Given the description of an element on the screen output the (x, y) to click on. 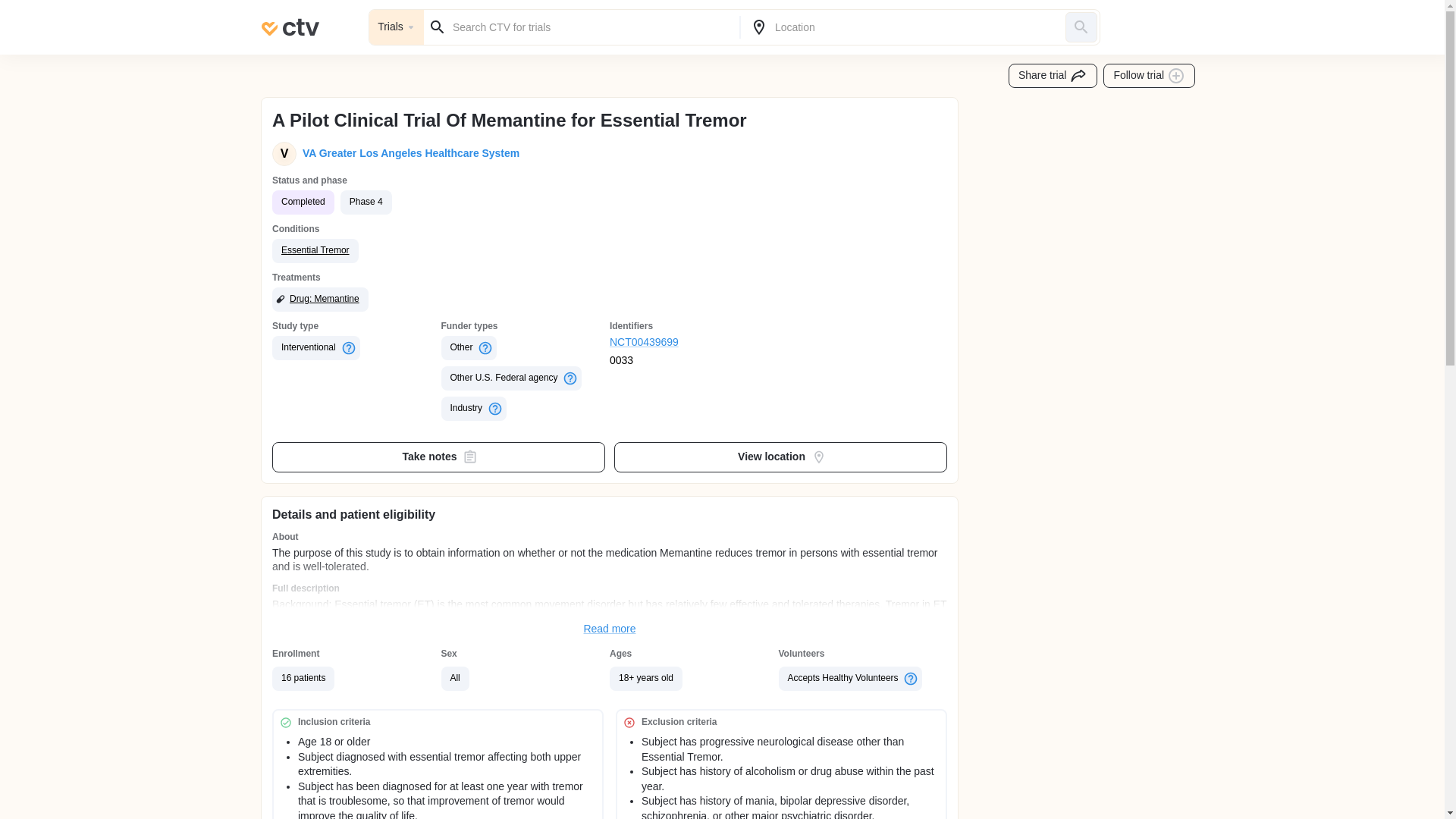
Share trial (1053, 75)
VA Greater Los Angeles Healthcare System (408, 153)
Read more (609, 629)
View location (780, 457)
Follow trial (1149, 75)
Trials (396, 27)
Take notes (438, 457)
NCT00439699 (694, 342)
